Given the description of an element on the screen output the (x, y) to click on. 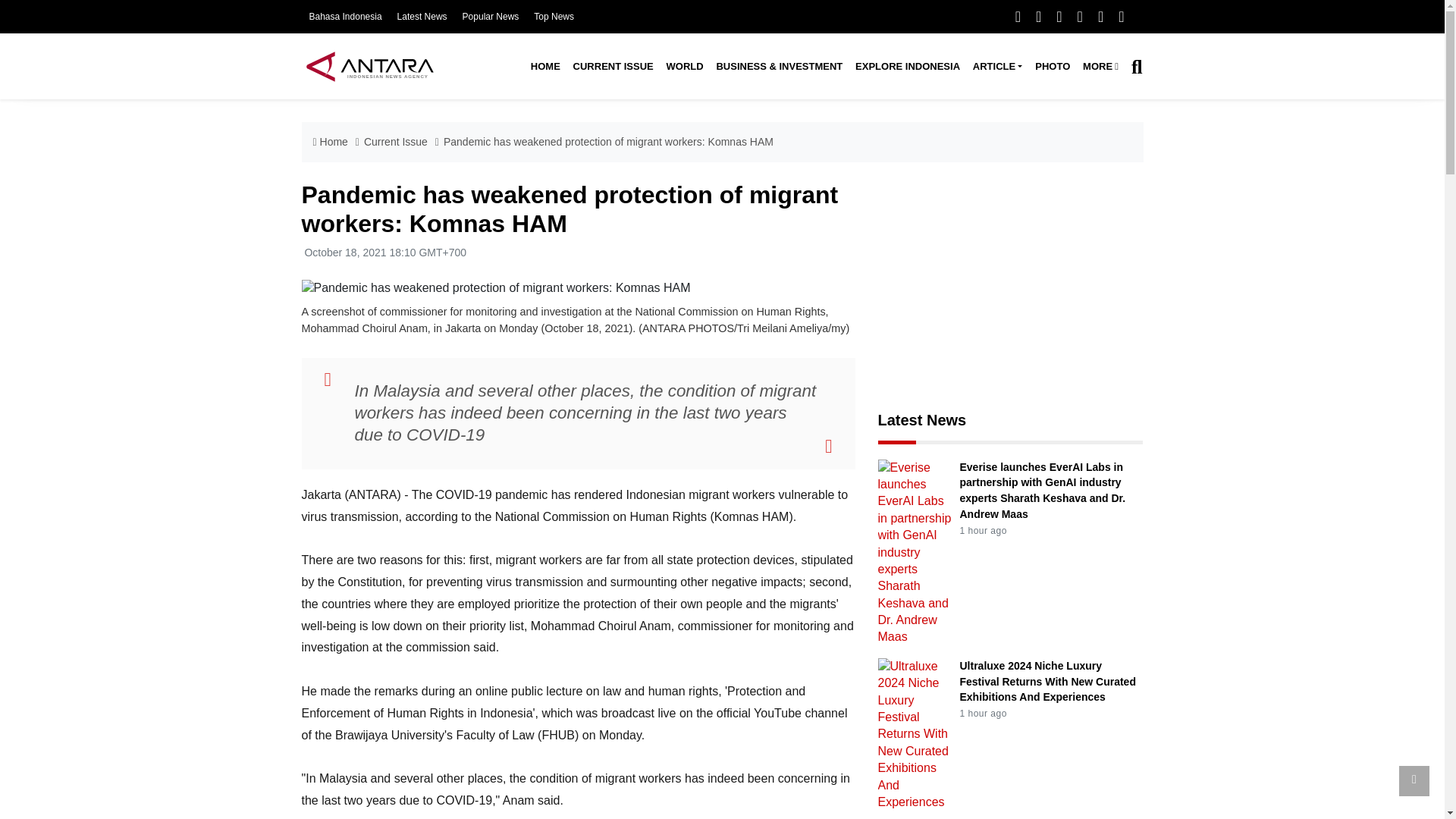
Popular News (491, 16)
Tiktok ANTARA (1100, 15)
Explore Indonesia (907, 66)
Facebook ANTARA (1017, 15)
Latest News (421, 16)
Youtube ANTARA (1080, 15)
WORLD (684, 66)
Photo (1053, 66)
Top News (553, 16)
Twitter ANTARA (1038, 15)
Popular News (491, 16)
HOME (545, 66)
PHOTO (1053, 66)
CURRENT ISSUE (612, 66)
